Given the description of an element on the screen output the (x, y) to click on. 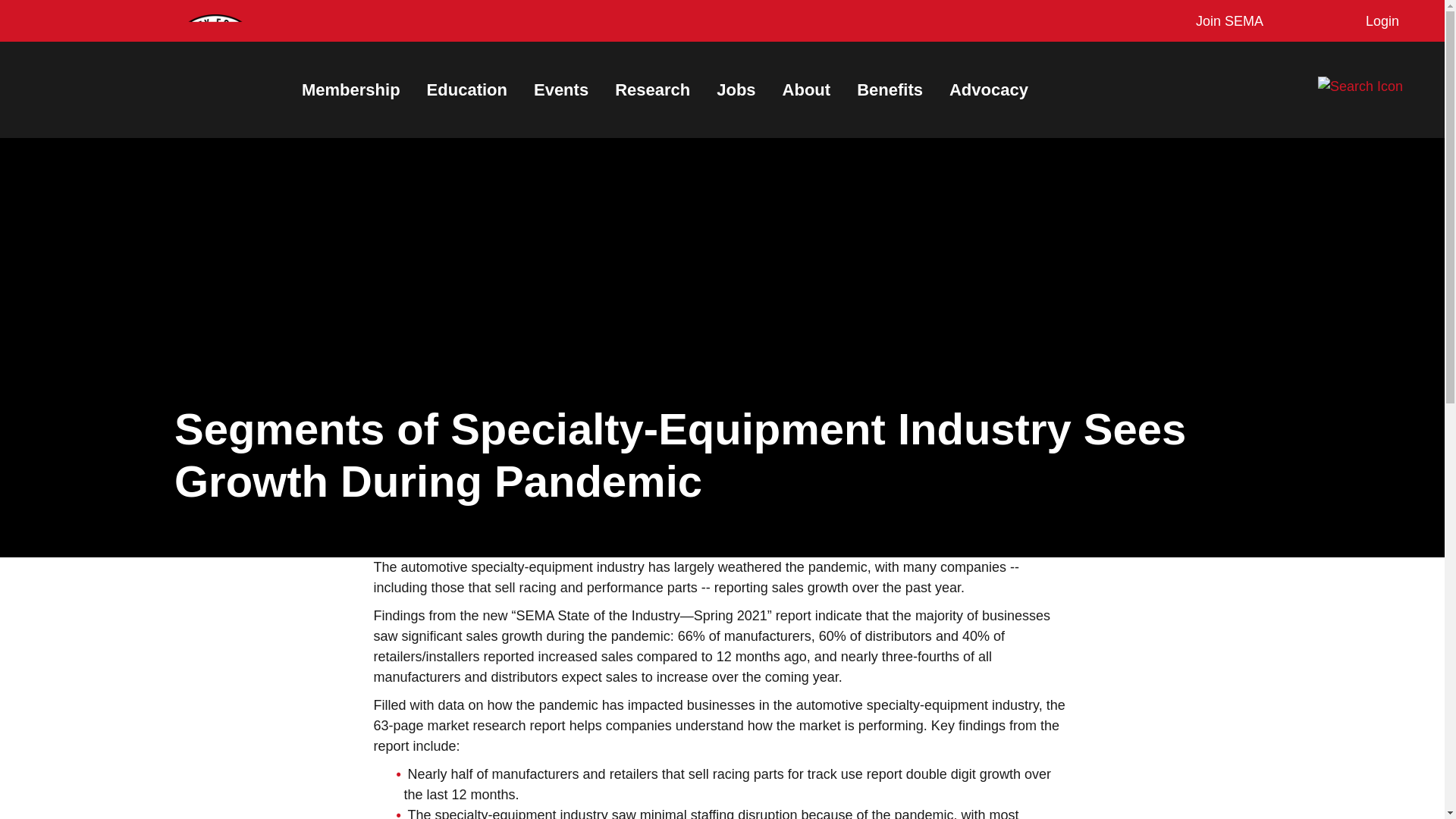
Membership (350, 89)
Login (1378, 20)
Benefits (889, 89)
Join SEMA (1225, 20)
Research (652, 89)
Search Sema.org (1373, 86)
Advocacy (988, 89)
Education (466, 89)
